Given the description of an element on the screen output the (x, y) to click on. 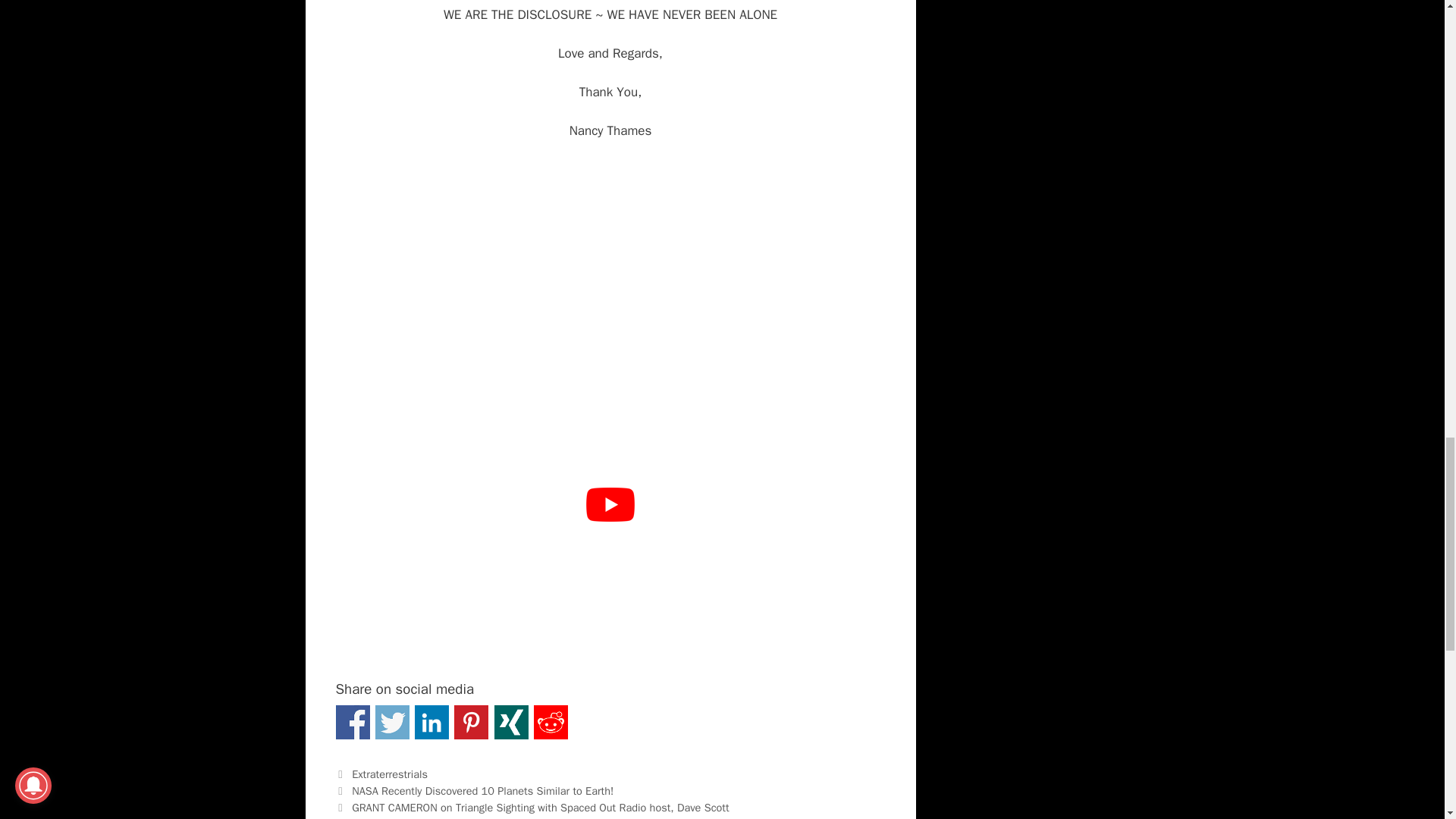
Share on Xing (511, 722)
Share on Twitter (392, 722)
Share on Pinterest (470, 722)
Extraterrestrials (390, 774)
NASA Recently Discovered 10 Planets Similar to Earth! (482, 790)
Share on Linkedin (431, 722)
Share on Facebook (351, 722)
Share on Reddit (550, 722)
